Given the description of an element on the screen output the (x, y) to click on. 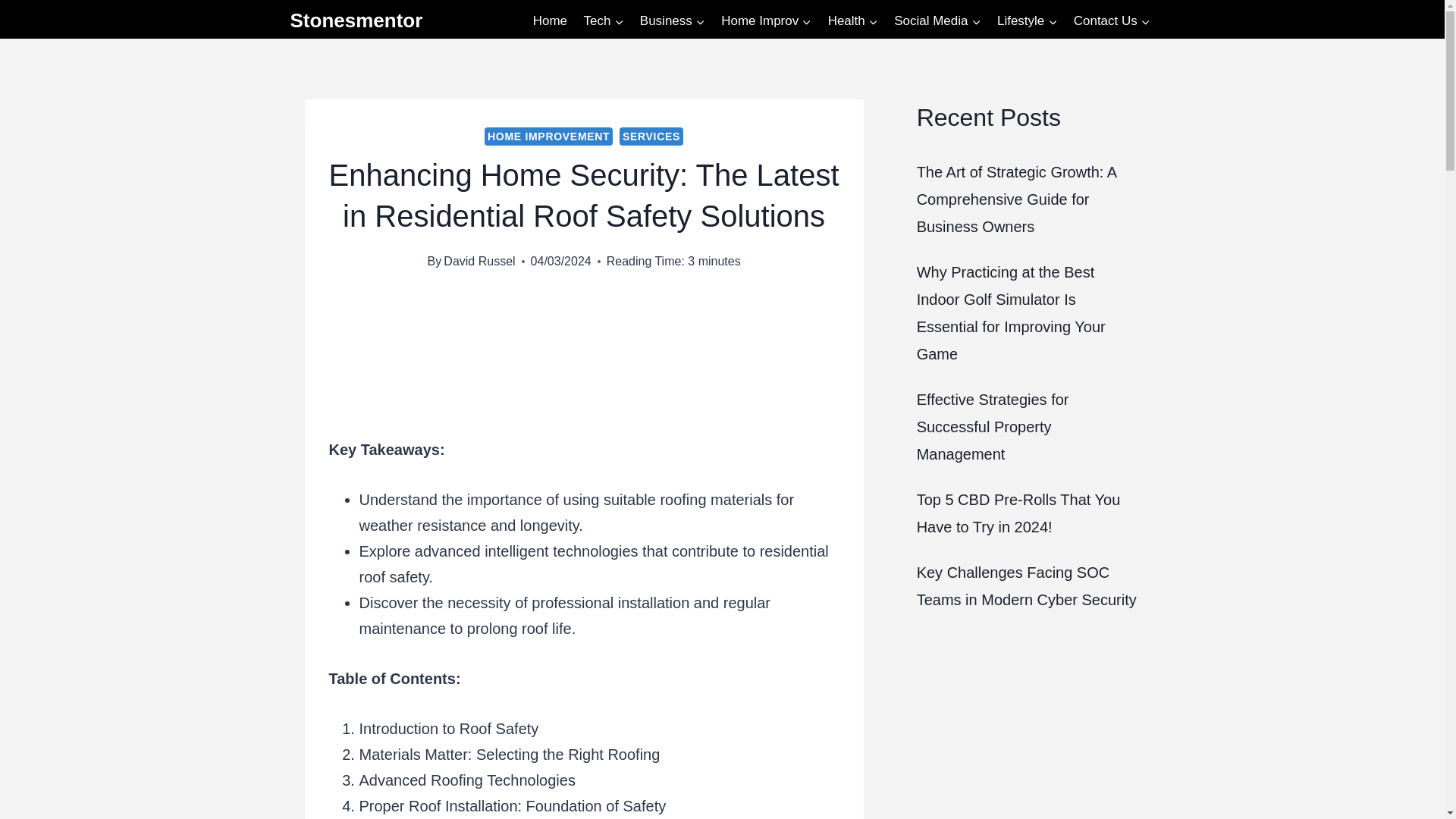
Tech (603, 21)
Stonesmentor (355, 20)
Lifestyle (1026, 21)
Home Improv (765, 21)
Business (672, 21)
Health (852, 21)
Home (549, 21)
Social Media (936, 21)
